Given the description of an element on the screen output the (x, y) to click on. 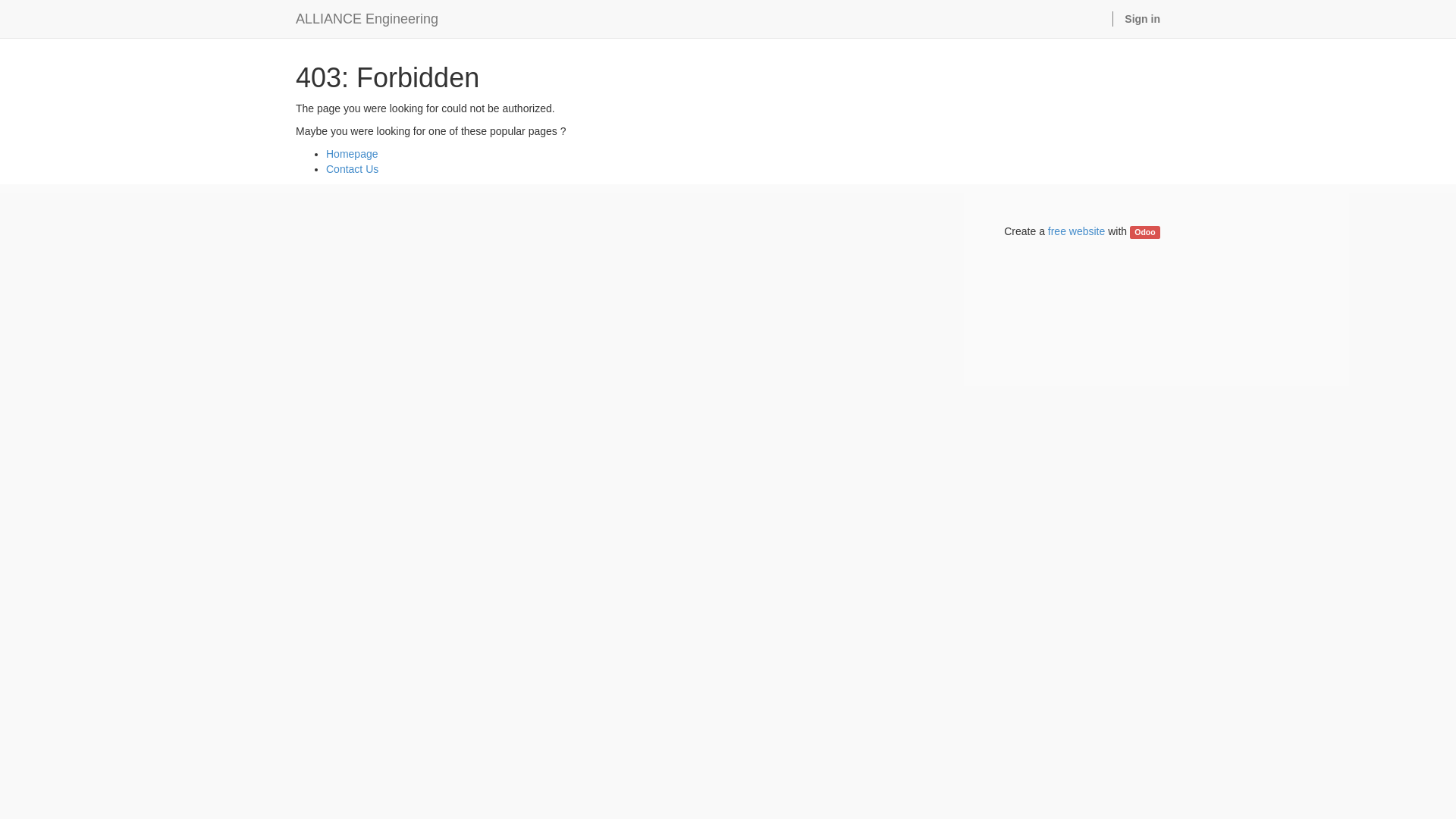
Odoo Element type: text (1144, 231)
ALLIANCE Engineering Element type: text (366, 18)
free website Element type: text (1076, 231)
Homepage Element type: text (352, 153)
Sign in Element type: text (1142, 18)
Contact Us Element type: text (352, 169)
